Given the description of an element on the screen output the (x, y) to click on. 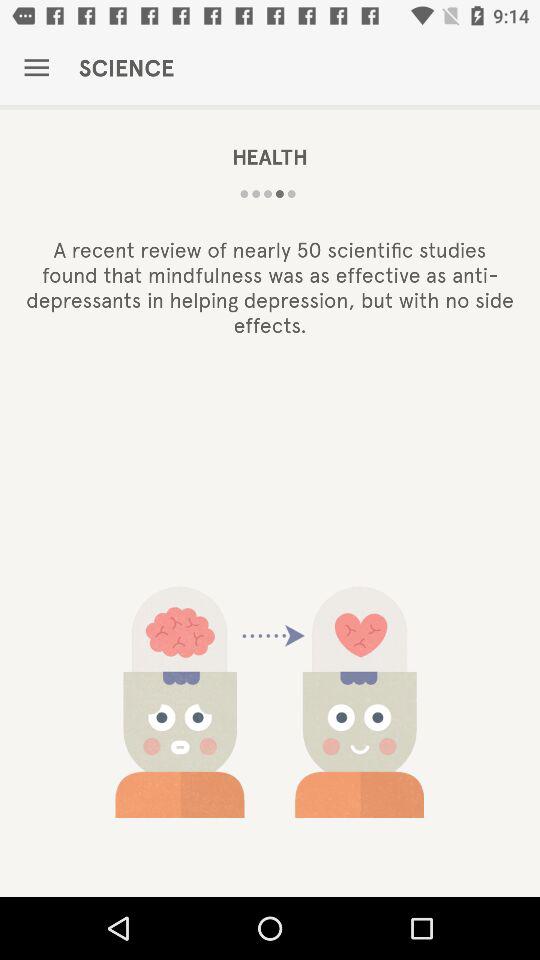
tap the icon next to science (36, 68)
